Given the description of an element on the screen output the (x, y) to click on. 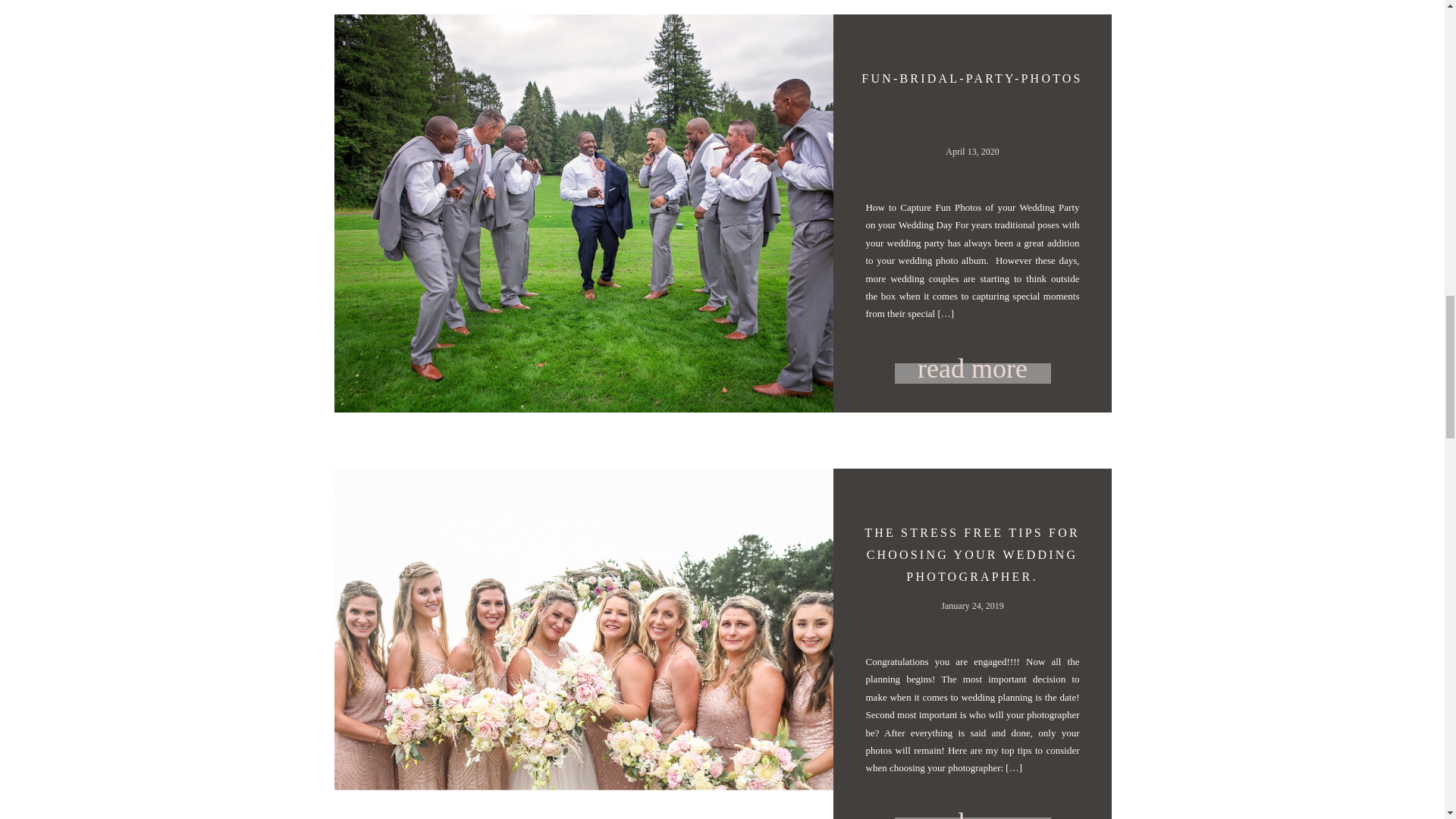
THE STRESS FREE TIPS FOR CHOOSING YOUR WEDDING PHOTOGRAPHER. (972, 554)
The stress free tips for choosing your wedding photographer. (973, 801)
FUN-BRIDAL-PARTY-PHOTOS (971, 78)
Fun-bridal-party-photos (973, 366)
Fun-bridal-party-photos (973, 373)
read more (973, 801)
read more (973, 366)
